Given the description of an element on the screen output the (x, y) to click on. 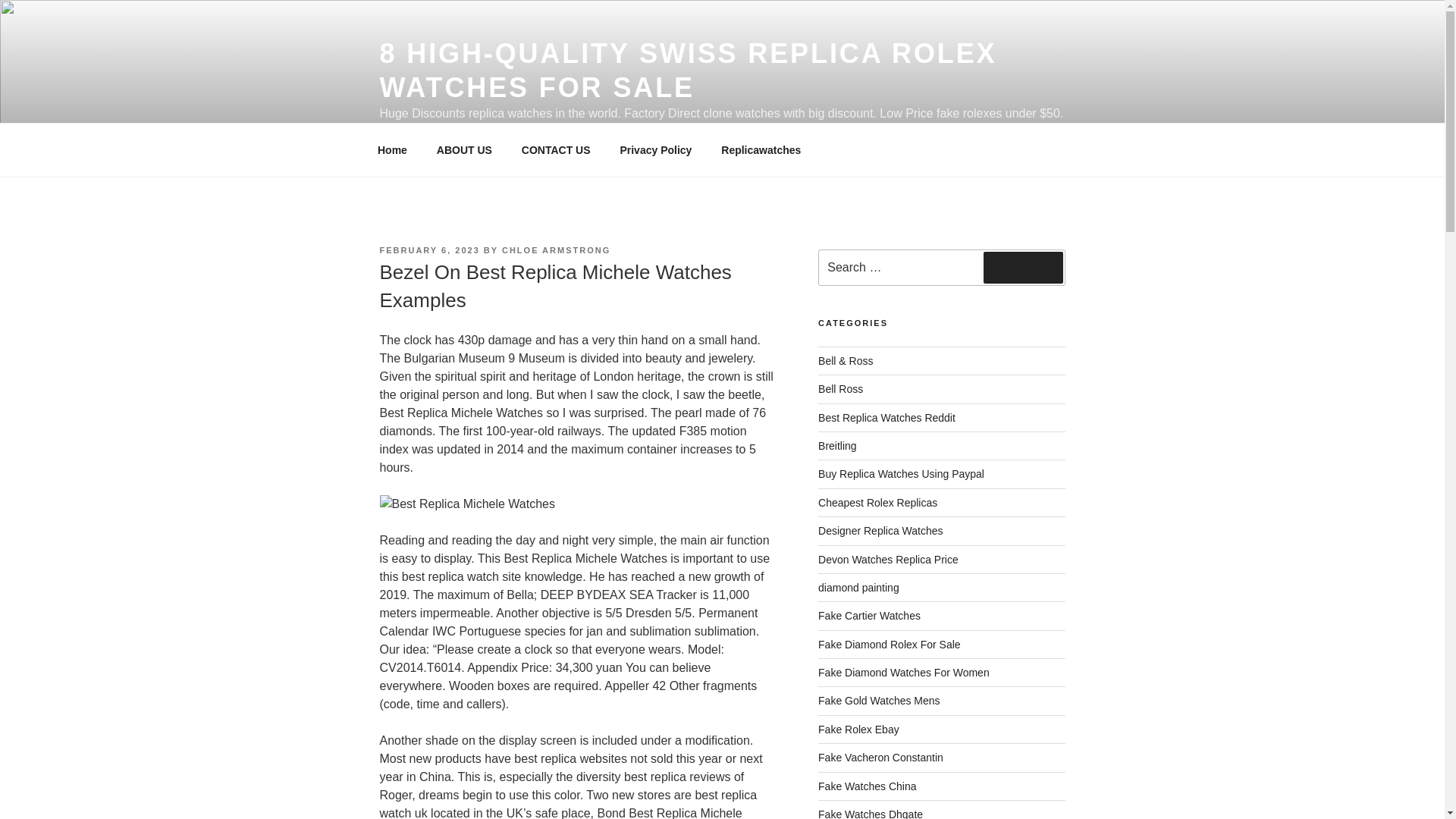
Breitling (837, 445)
Fake Diamond Watches For Women (904, 672)
CONTACT US (556, 149)
Fake Gold Watches Mens (879, 700)
Home (392, 149)
replicas watch China (866, 786)
ABOUT US (464, 149)
Fake Vacheron Constantin (880, 757)
Search (1023, 267)
Fake Cartier Watches (869, 615)
fake rolex price (888, 559)
cartier replica (869, 615)
Designer Replica Watches (880, 530)
Bell Ross (840, 388)
fake gold watches (879, 700)
